Given the description of an element on the screen output the (x, y) to click on. 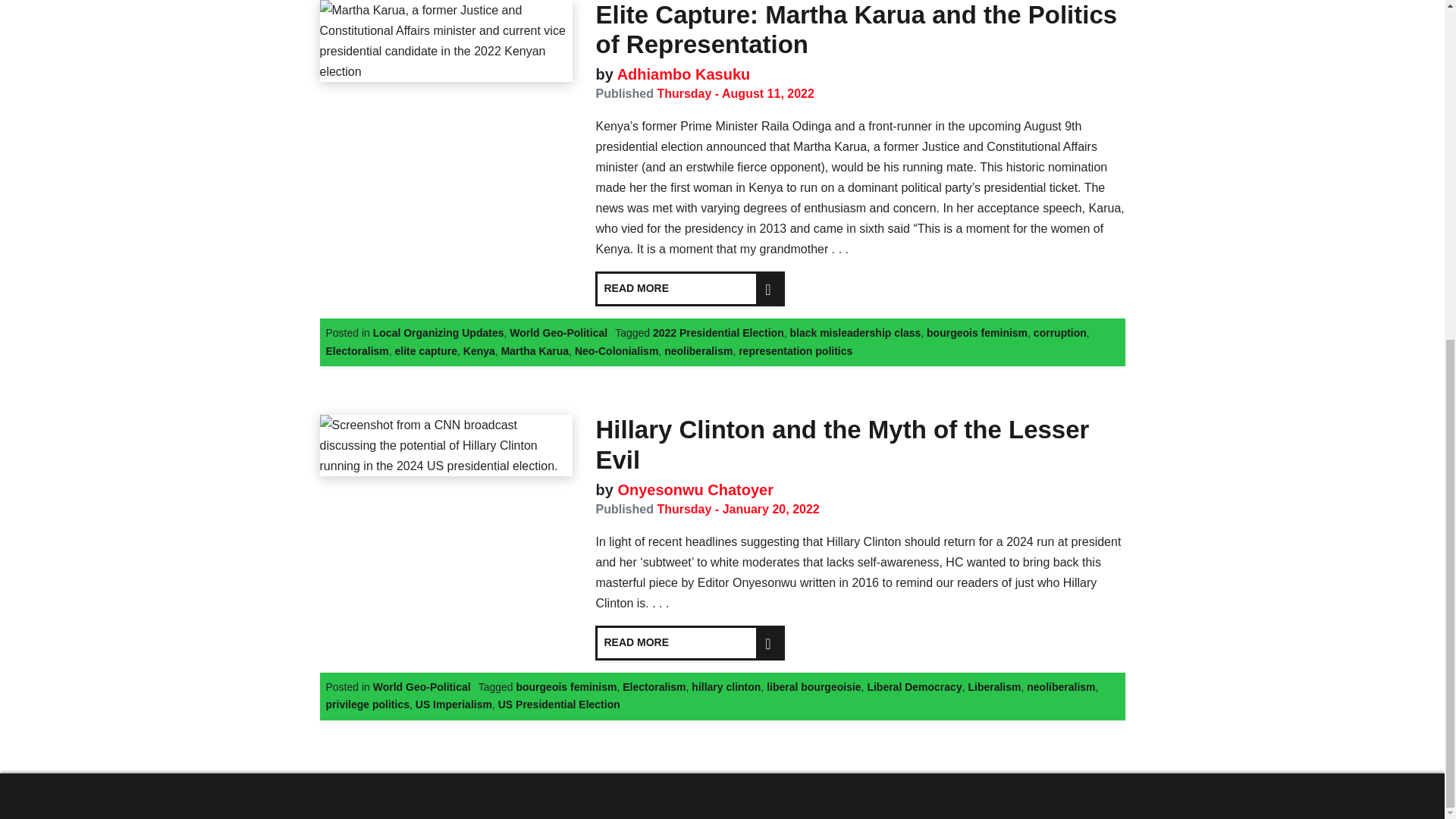
elite capture (425, 350)
Kenya (479, 350)
Martha Karua (534, 350)
Neo-Colonialism (616, 350)
2022 Presidential Election (718, 332)
Adhiambo Kasuku (680, 74)
corruption (1059, 332)
black misleadership class (854, 332)
Electoralism (357, 350)
Adhiambo Kasuku (680, 74)
neoliberalism (697, 350)
World Geo-Political (558, 332)
Thursday - August 11, 2022 (734, 92)
READ MORE (689, 288)
